Given the description of an element on the screen output the (x, y) to click on. 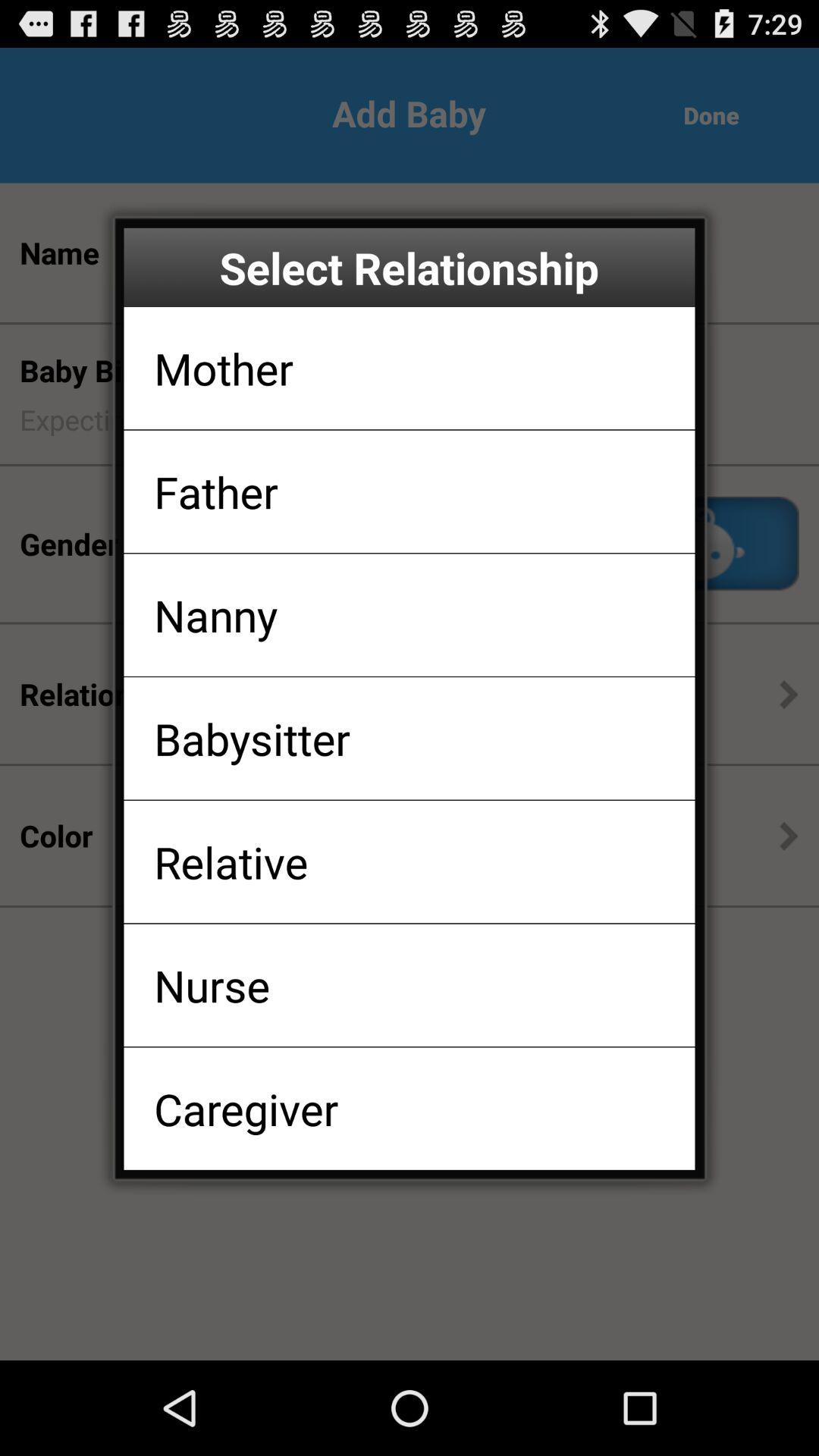
jump to the relative (231, 861)
